Given the description of an element on the screen output the (x, y) to click on. 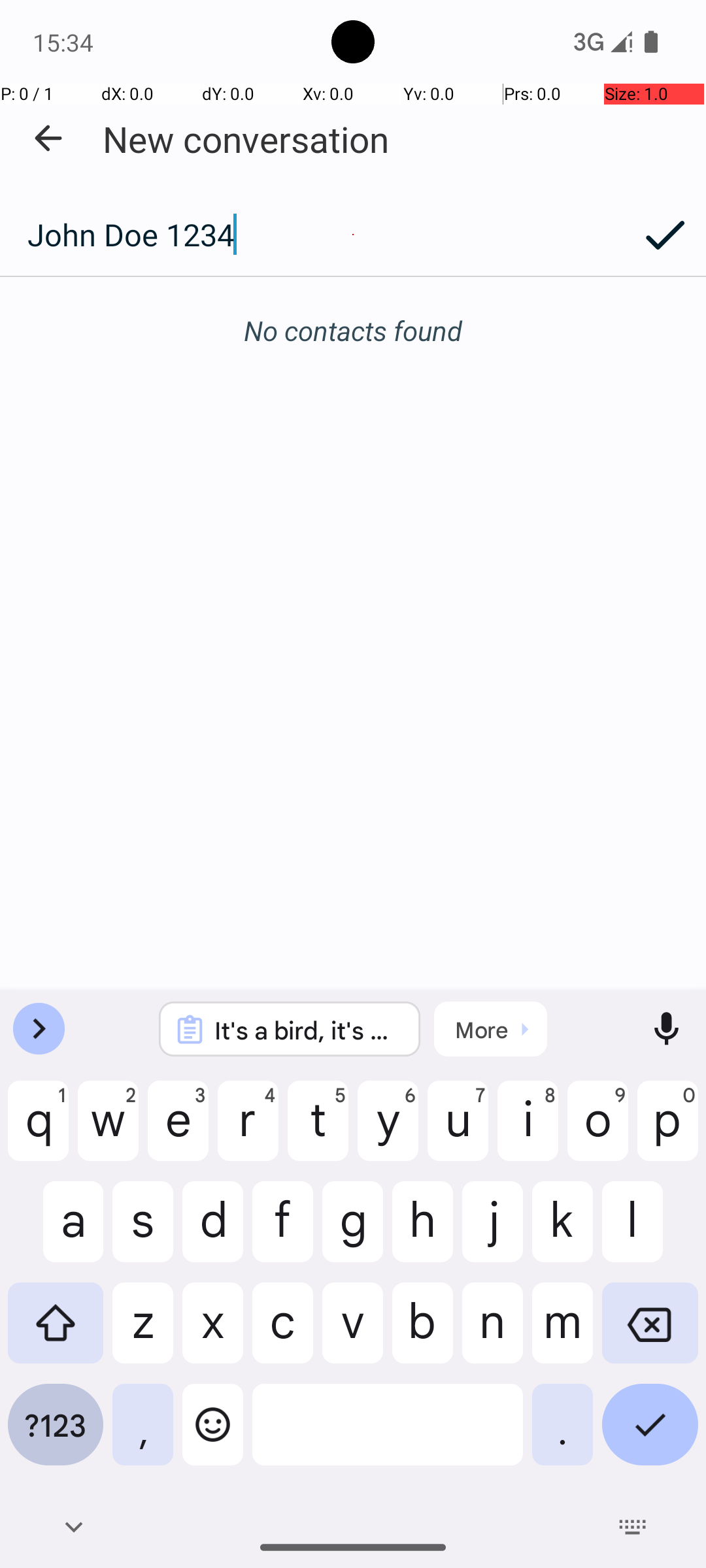
John Doe 1234 Element type: android.widget.EditText (311, 234)
No contacts found Element type: android.widget.TextView (353, 329)
